Given the description of an element on the screen output the (x, y) to click on. 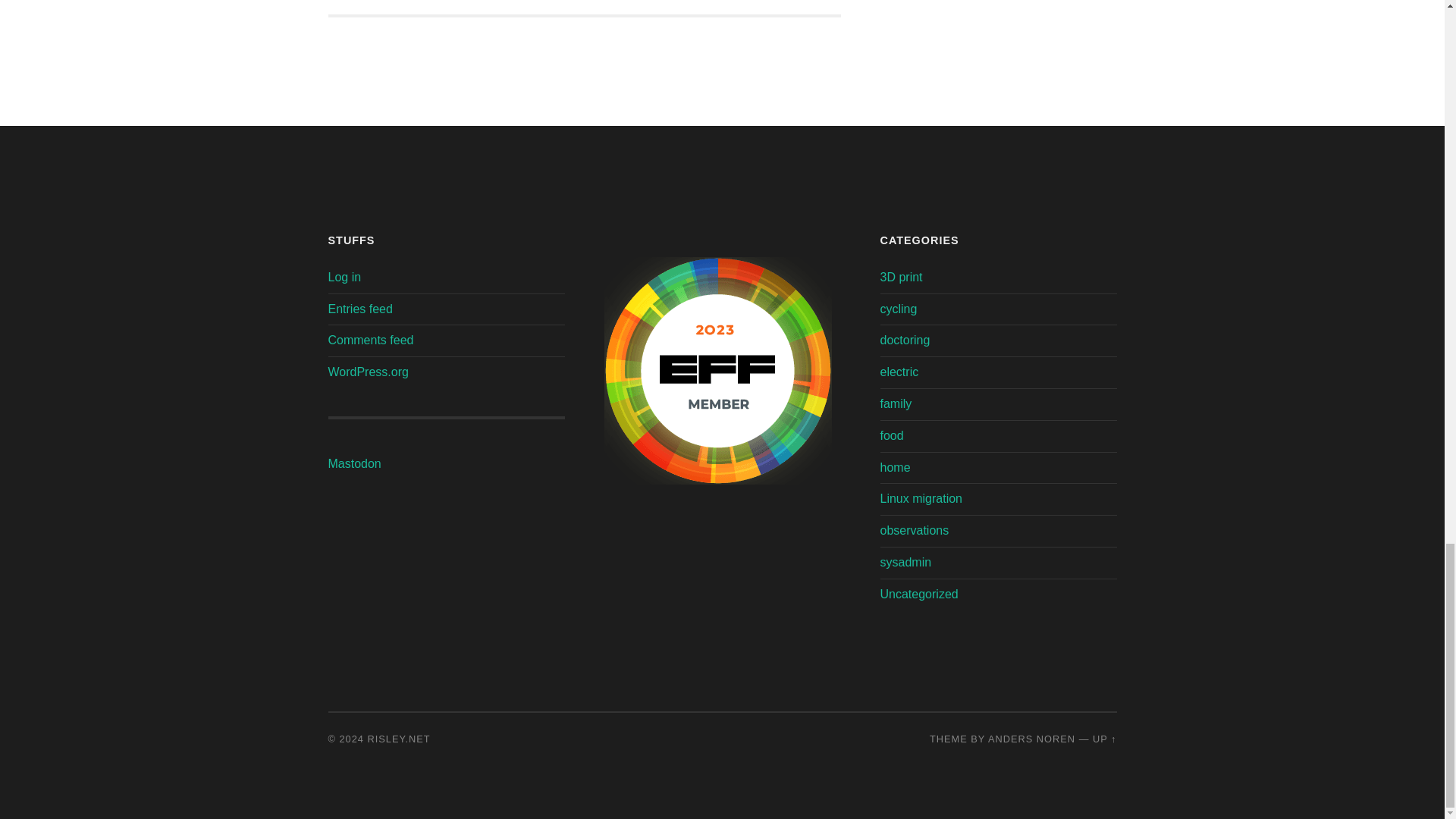
To the top (790, 6)
Log in (380, 6)
